Given the description of an element on the screen output the (x, y) to click on. 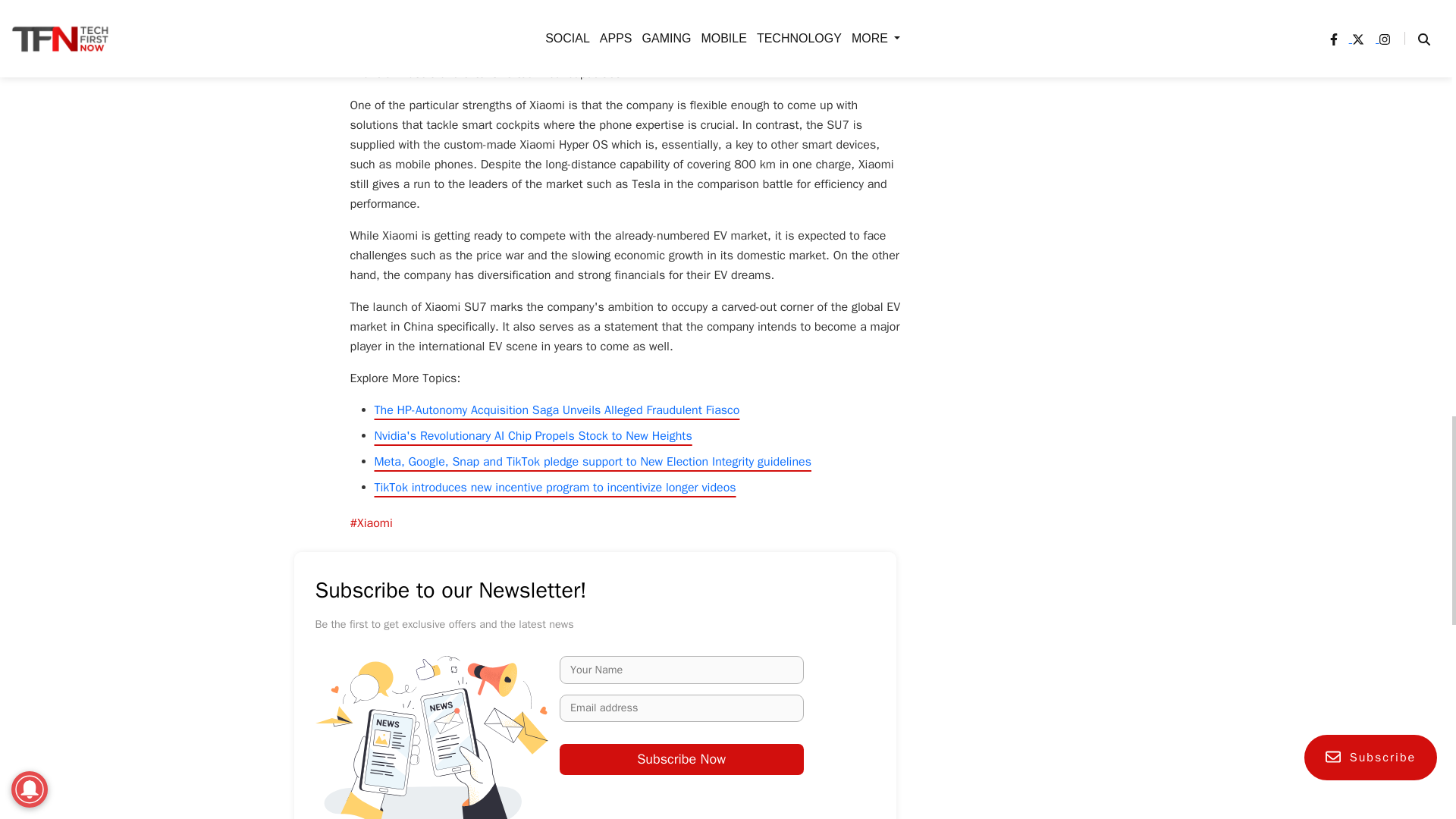
Nvidia's Revolutionary AI Chip Propels Stock to New Heights (533, 435)
